Given the description of an element on the screen output the (x, y) to click on. 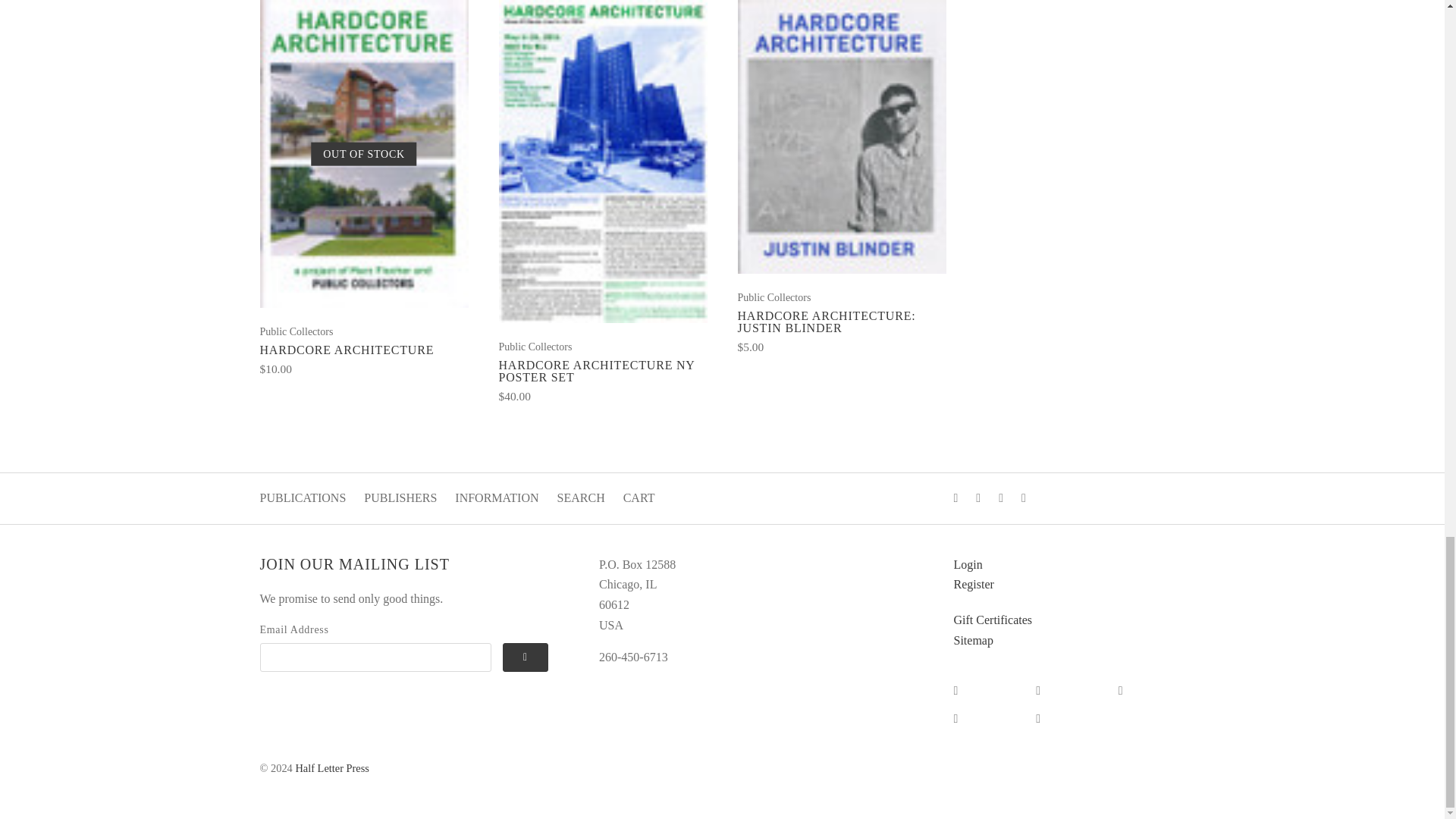
HARDCORE ARCHITECTURE: JUSTIN BLINDER (825, 321)
HARDCORE ARCHITECTURE (346, 349)
HARDCORE ARCHITECTURE NY POSTER SET (597, 371)
